Given the description of an element on the screen output the (x, y) to click on. 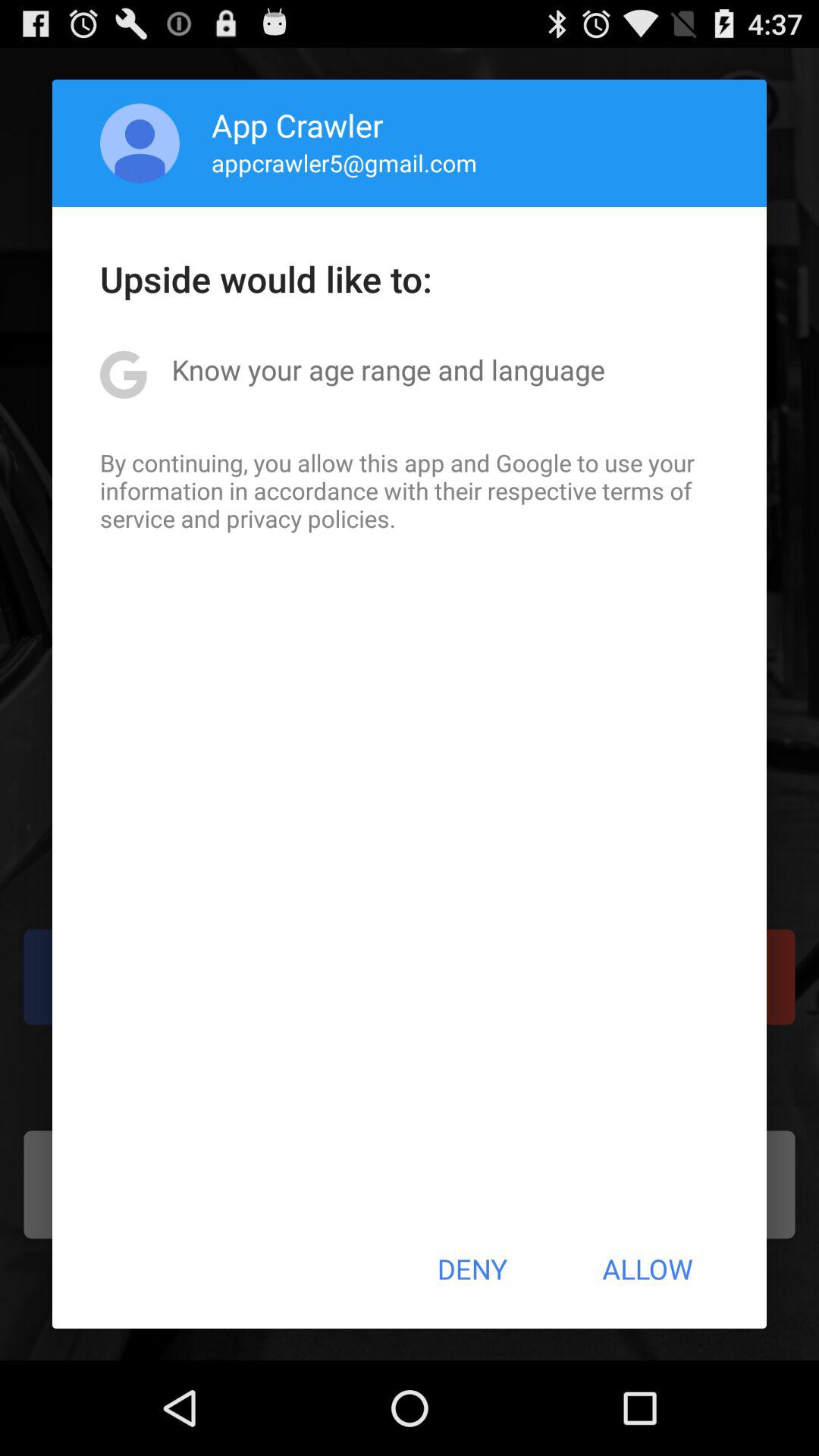
turn on the app above appcrawler5@gmail.com item (297, 124)
